Given the description of an element on the screen output the (x, y) to click on. 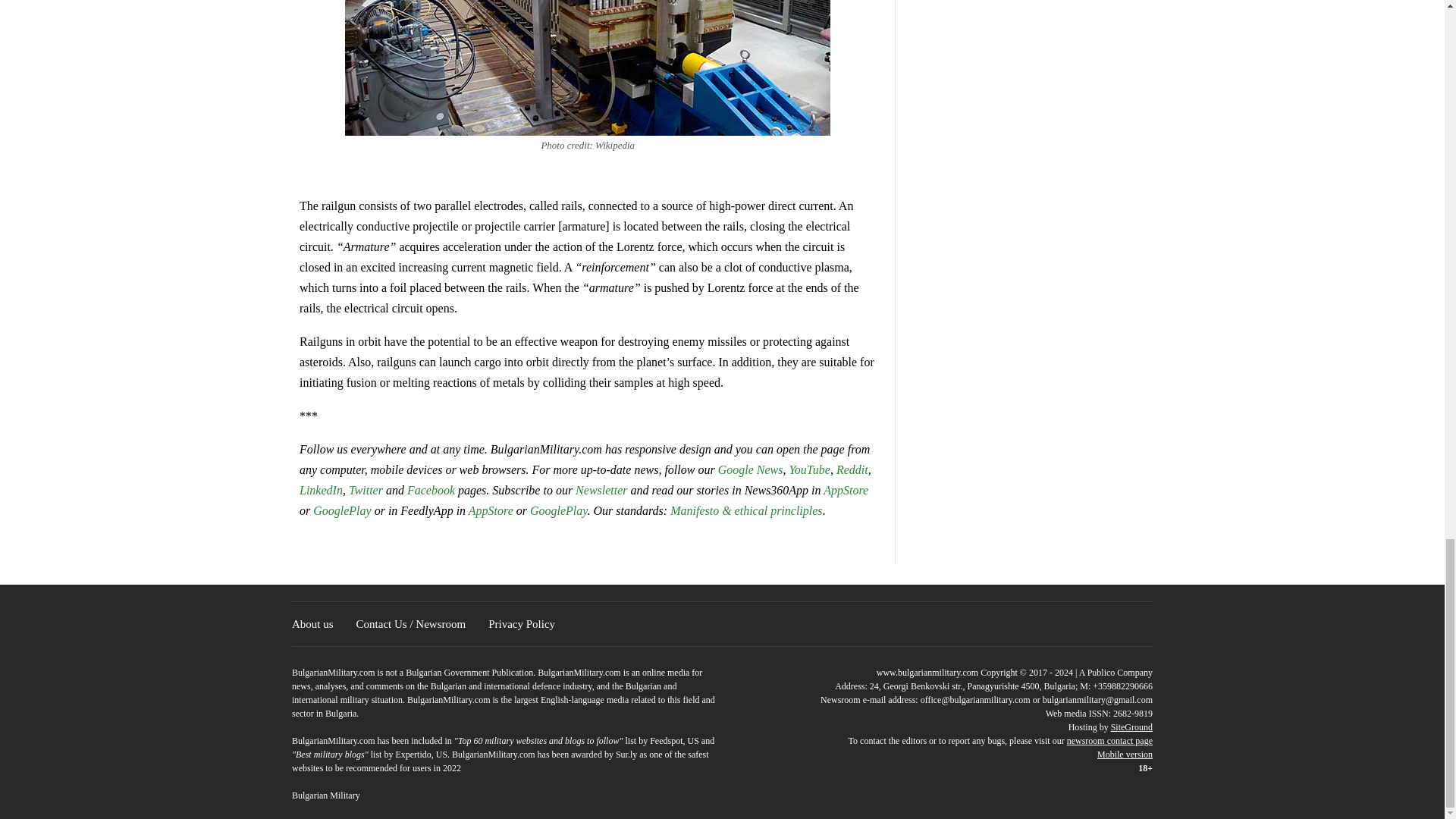
YouTube (809, 469)
AppStore (845, 490)
GooglePlay (342, 510)
AppStore (490, 510)
Facebook (430, 490)
LinkedIn (320, 490)
Reddit (851, 469)
Newsletter (601, 490)
GooglePlay (558, 510)
Twitter (367, 490)
